Given the description of an element on the screen output the (x, y) to click on. 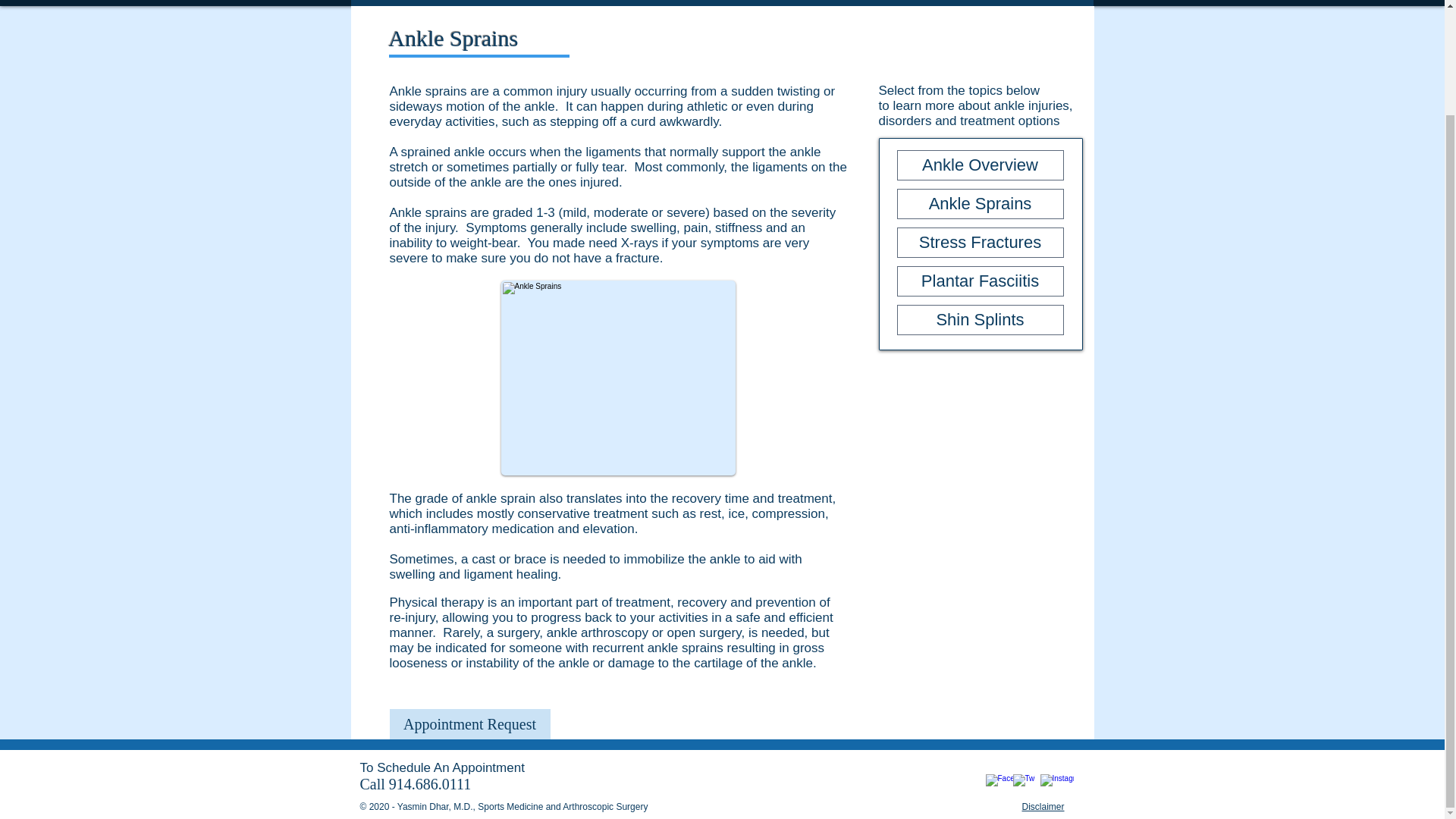
ABOUT ME (480, 2)
Plantar Fasciitis (979, 281)
Appointment Request (470, 724)
Shin Splints (979, 319)
Ankle Sprains (617, 377)
LOCATION (931, 2)
Disclaimer (1043, 806)
HOME (389, 2)
BLOG (843, 2)
Ankle Sprains (979, 204)
Ankle Overview (979, 164)
CONTACT US (1037, 2)
PATIENT RESOURCES (726, 2)
Stress Fractures (979, 242)
